Given the description of an element on the screen output the (x, y) to click on. 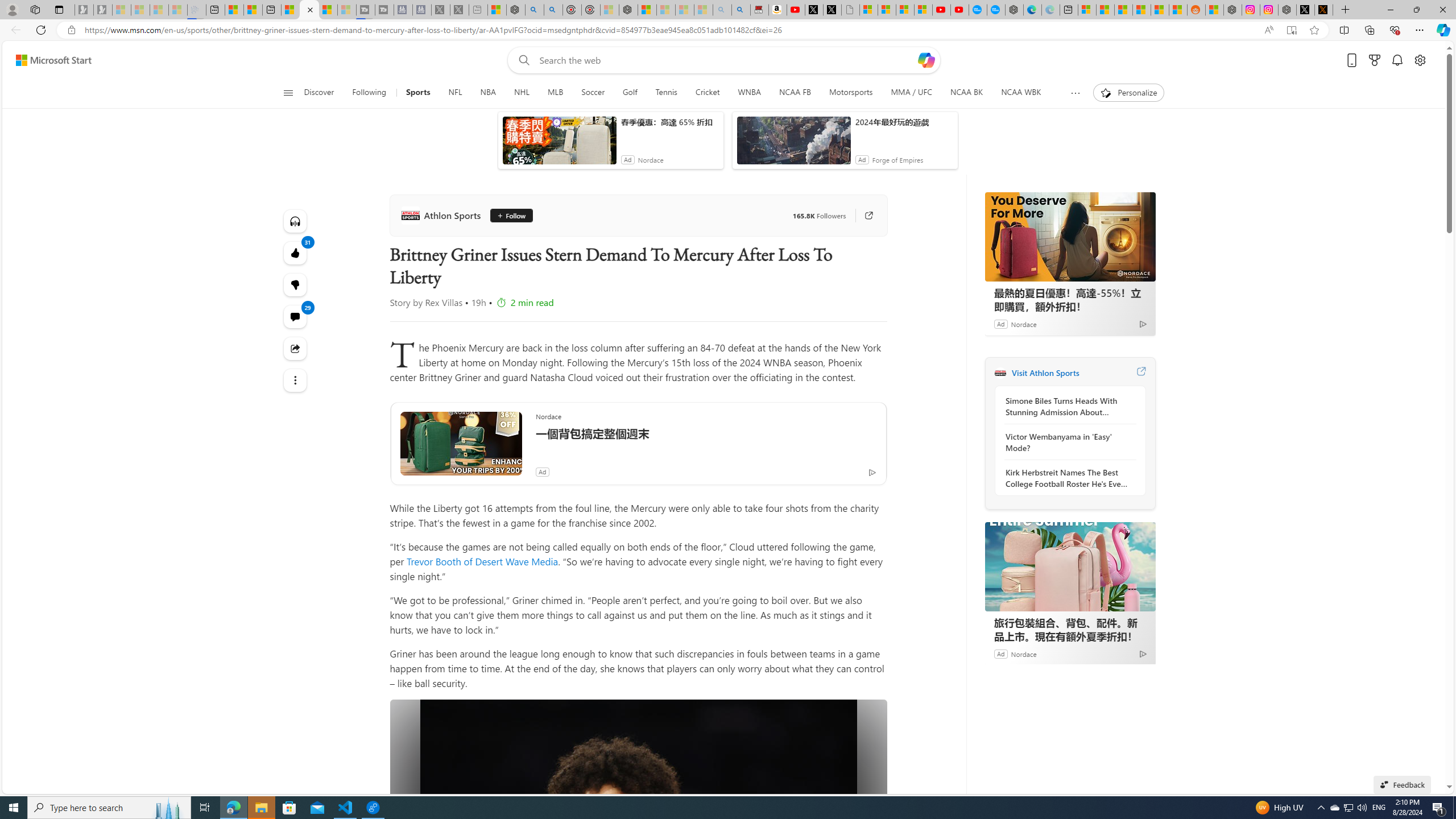
Open navigation menu (287, 92)
Streaming Coverage | T3 - Sleeping (365, 9)
Newsletter Sign Up - Sleeping (102, 9)
Microsoft rewards (1374, 60)
Ad (999, 653)
MMA / UFC (911, 92)
Victor Wembanyama in 'Easy' Mode? (1066, 441)
Golf (630, 92)
Workspaces (34, 9)
